Given the description of an element on the screen output the (x, y) to click on. 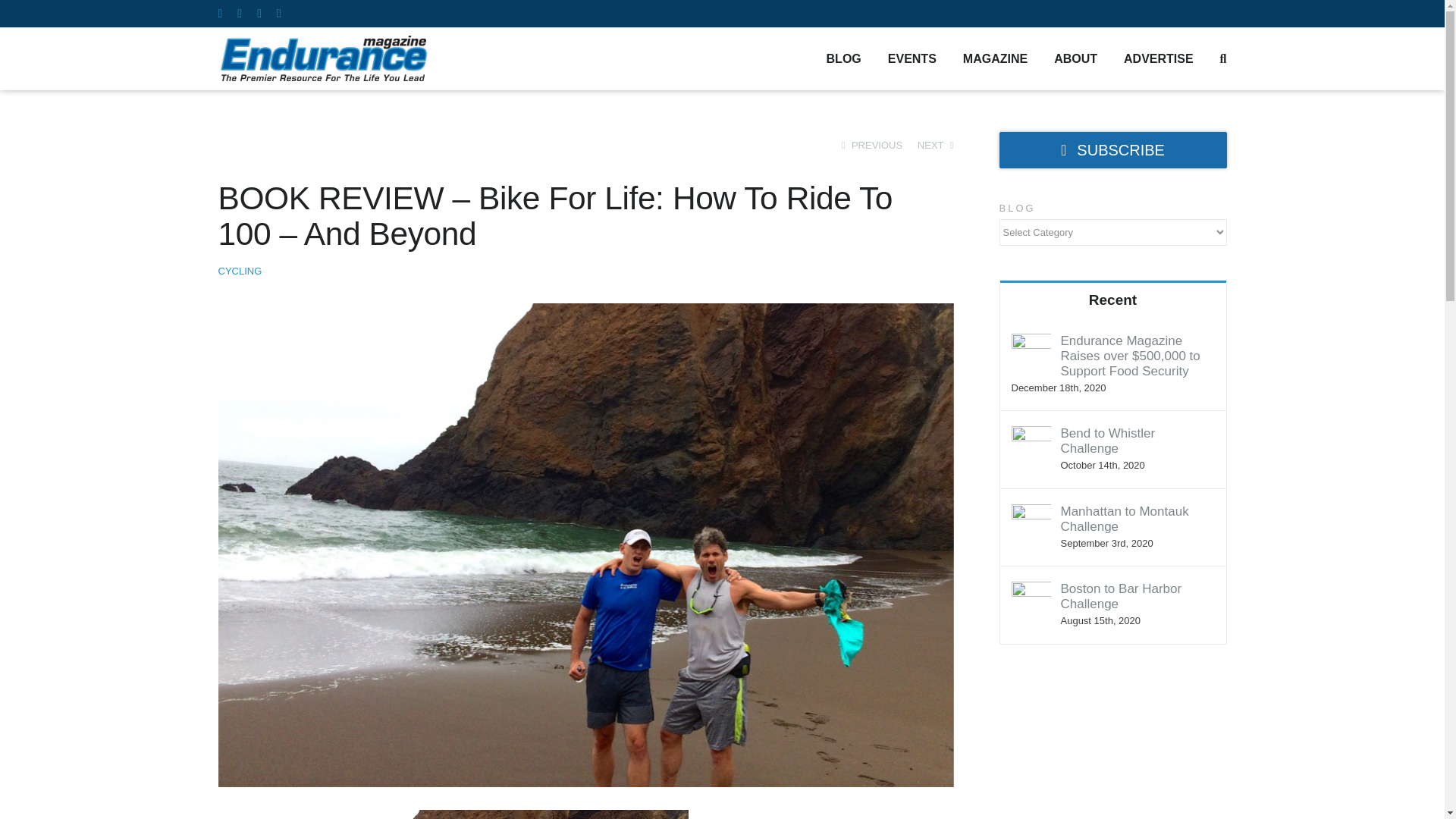
Page 36 (585, 814)
Search (1223, 58)
Email (278, 13)
ADVERTISE (1158, 58)
Rss (259, 13)
Facebook (220, 13)
EVENTS (912, 58)
Facebook (220, 13)
Email (278, 13)
MAGAZINE (994, 58)
BLOG (844, 58)
Twitter (239, 13)
Rss (259, 13)
Twitter (239, 13)
ABOUT (1075, 58)
